Given the description of an element on the screen output the (x, y) to click on. 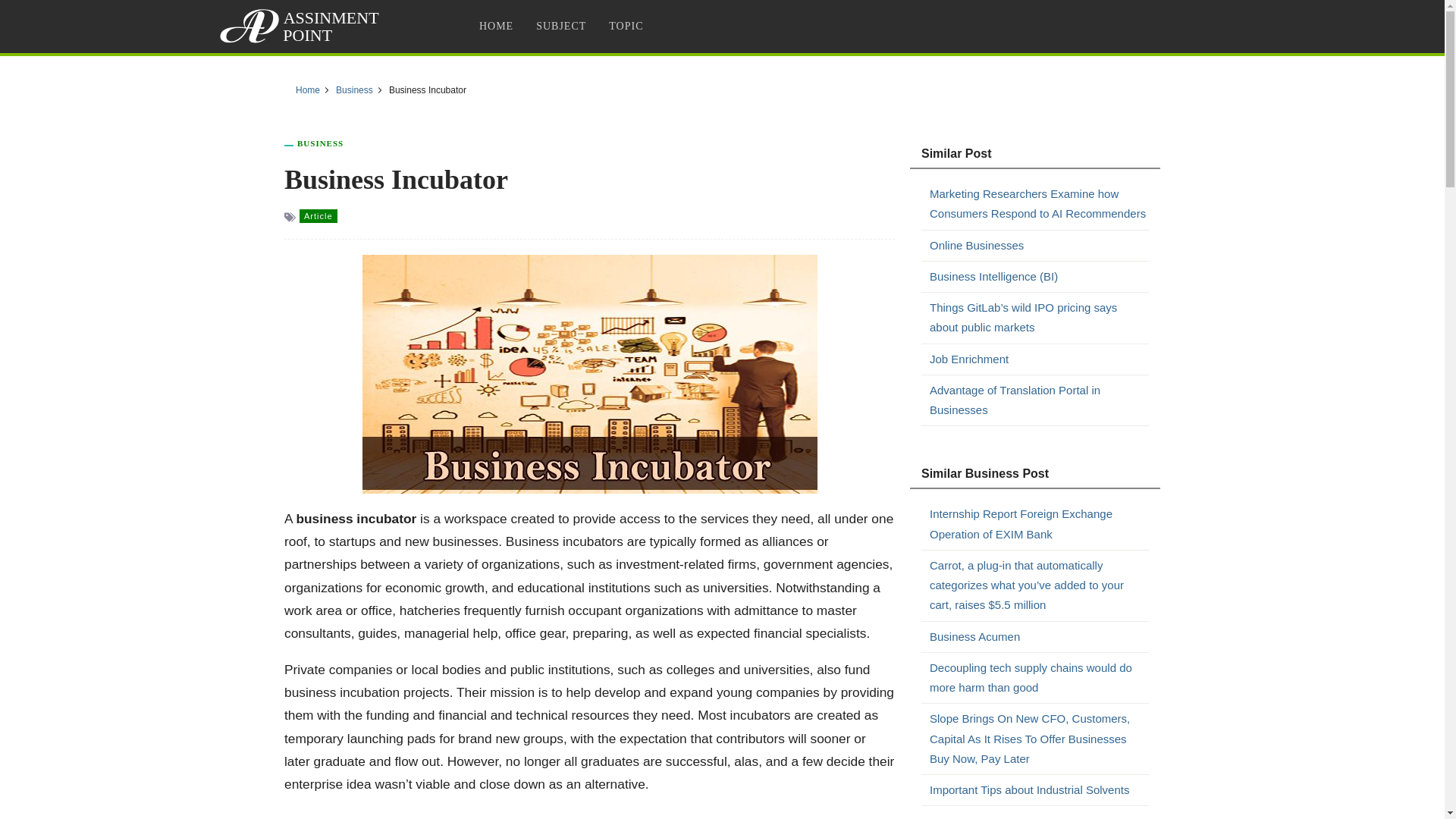
Advantage of Translation Portal in Businesses (1039, 400)
Home (307, 90)
SUBJECT (560, 26)
Business Acumen (1039, 636)
Internship Report Foreign Exchange Operation of EXIM Bank (1039, 524)
Important Tips about Industrial Solvents (1039, 790)
Decoupling tech supply chains would do more harm than good (1039, 678)
Job Enrichment (1039, 358)
